Given the description of an element on the screen output the (x, y) to click on. 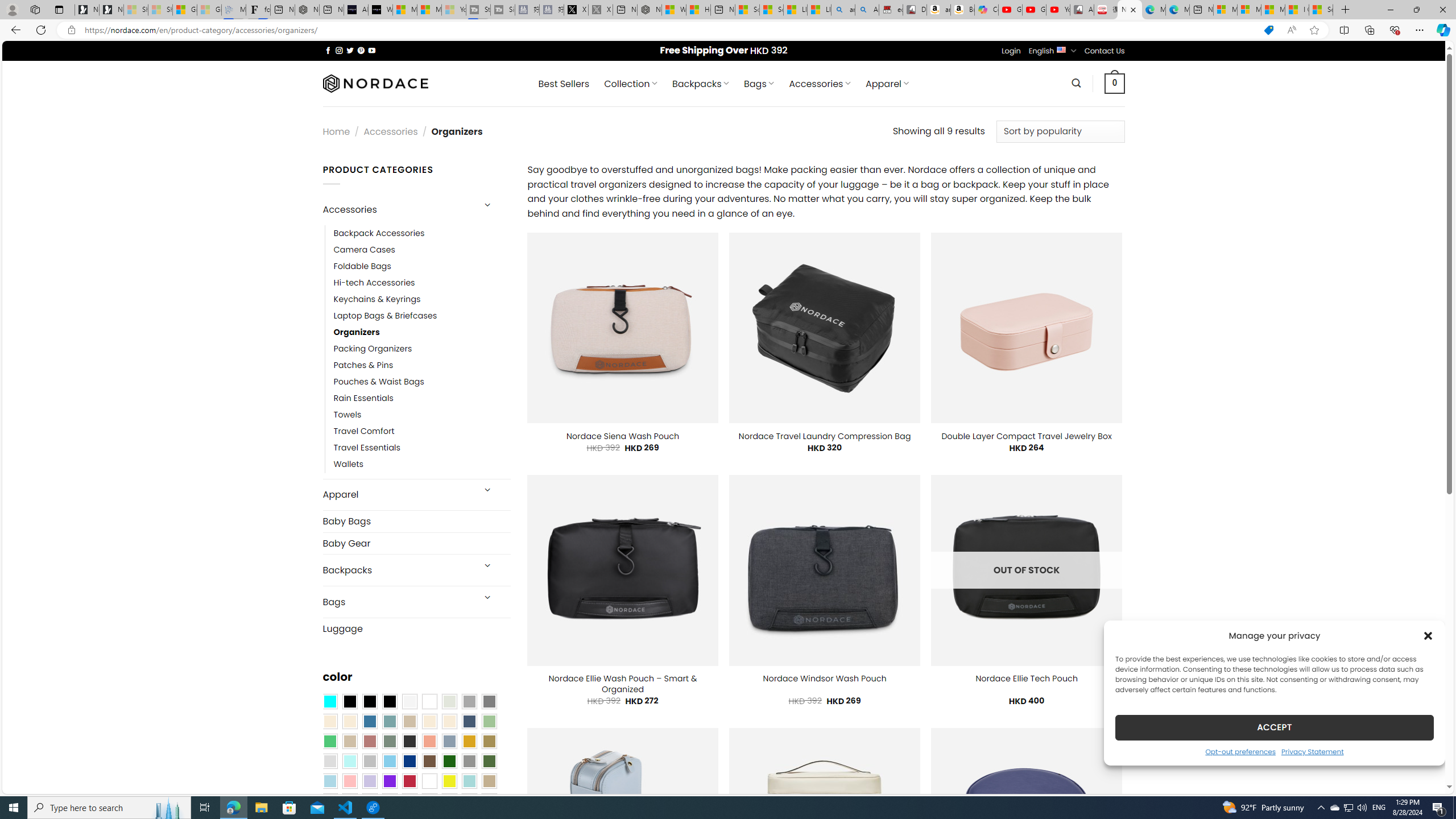
Keychains & Keyrings (422, 298)
Nordace - Organizers (1129, 9)
Microsoft Start (1273, 9)
Follow on Facebook (327, 49)
Personal Profile (12, 9)
Opt-out preferences (1240, 750)
Brownie (408, 721)
English (1061, 49)
Light Gray (329, 761)
Camera Cases (363, 248)
Blue Sage (389, 721)
 Best Sellers (563, 83)
Rain Essentials (363, 398)
Huge shark washes ashore at New York City beach | Watch (697, 9)
